Given the description of an element on the screen output the (x, y) to click on. 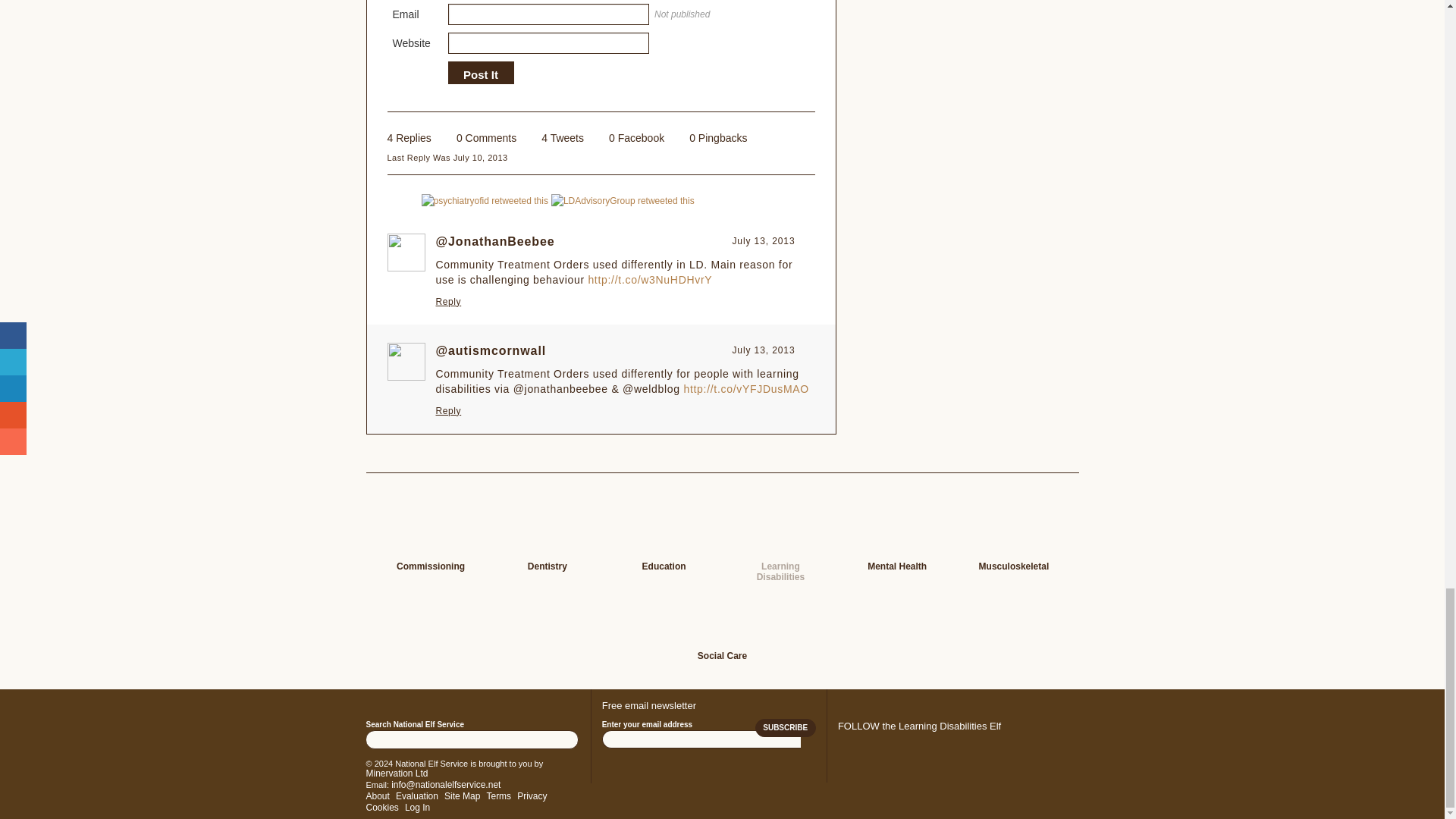
Subscribe (785, 728)
LDAdvisoryGroup retweeted this (622, 201)
psychiatryofid retweeted this (485, 201)
Search (565, 739)
Post It (479, 74)
